Given the description of an element on the screen output the (x, y) to click on. 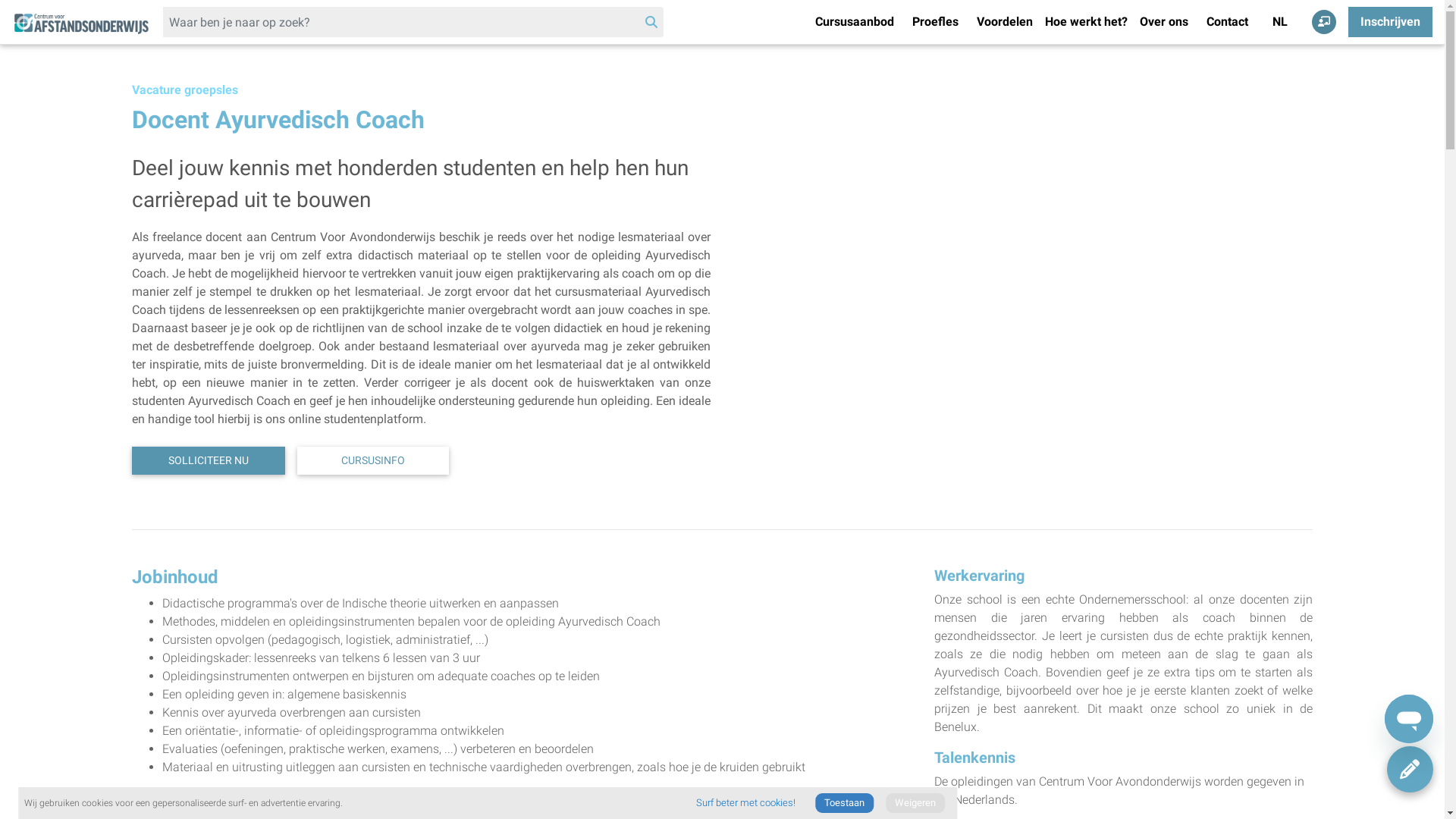
Cursusaanbod Element type: text (854, 21)
Toestaan Element type: text (844, 802)
Weigeren Element type: text (914, 802)
Surf beter met cookies! Element type: text (745, 802)
Button to launch messaging window Element type: hover (1408, 718)
Inschrijven Element type: text (1390, 21)
Over ons Element type: text (1163, 21)
NL Element type: text (1279, 21)
Voordelen Element type: text (1004, 21)
Proefles Element type: text (935, 21)
Hoe werkt het? Element type: text (1085, 21)
Contact Element type: text (1227, 21)
SOLLICITEER NU Element type: text (208, 460)
CURSUSINFO Element type: text (372, 460)
